Given the description of an element on the screen output the (x, y) to click on. 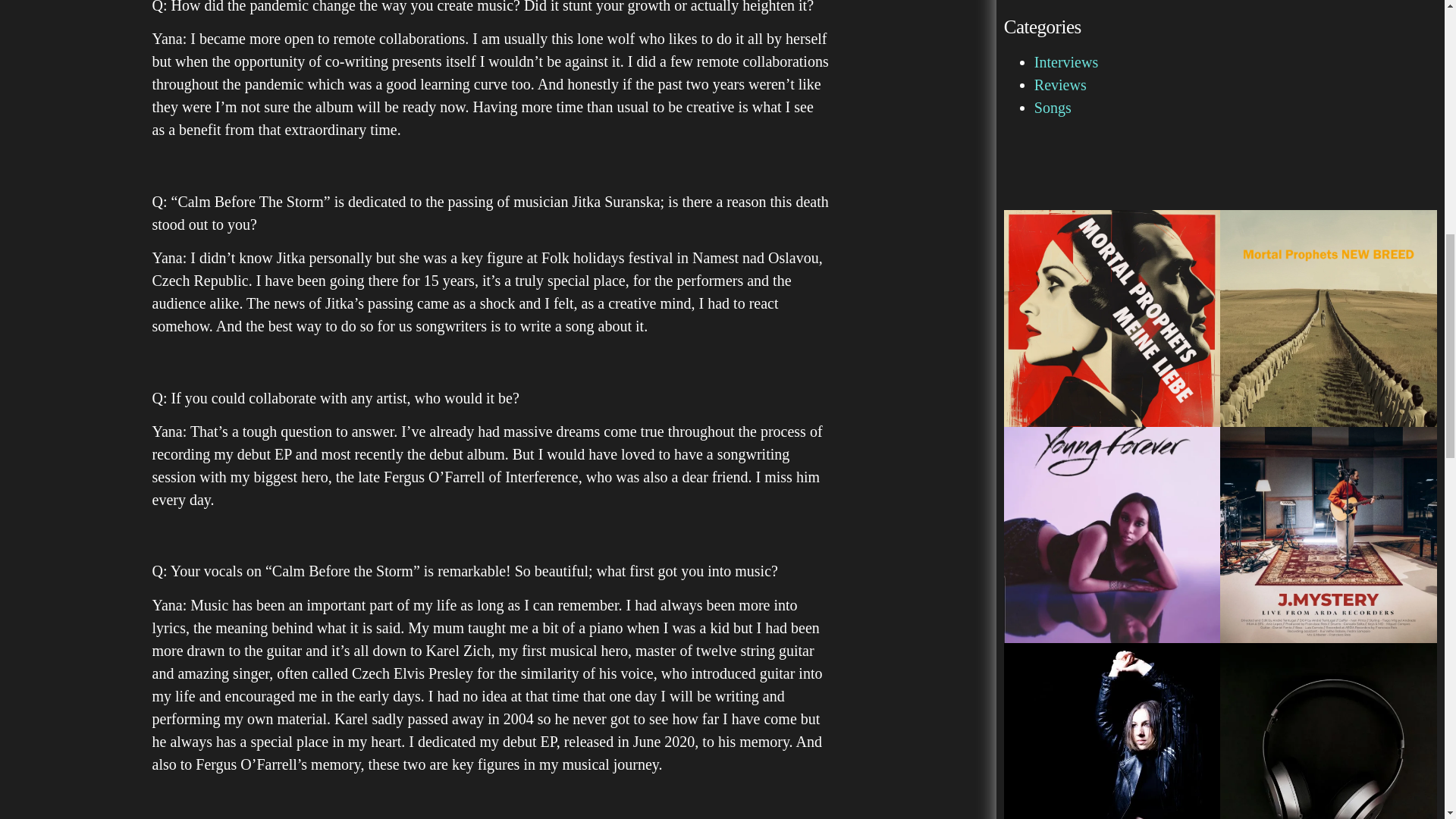
Interviews (1065, 62)
Reviews (1059, 84)
Songs (1052, 107)
